Given the description of an element on the screen output the (x, y) to click on. 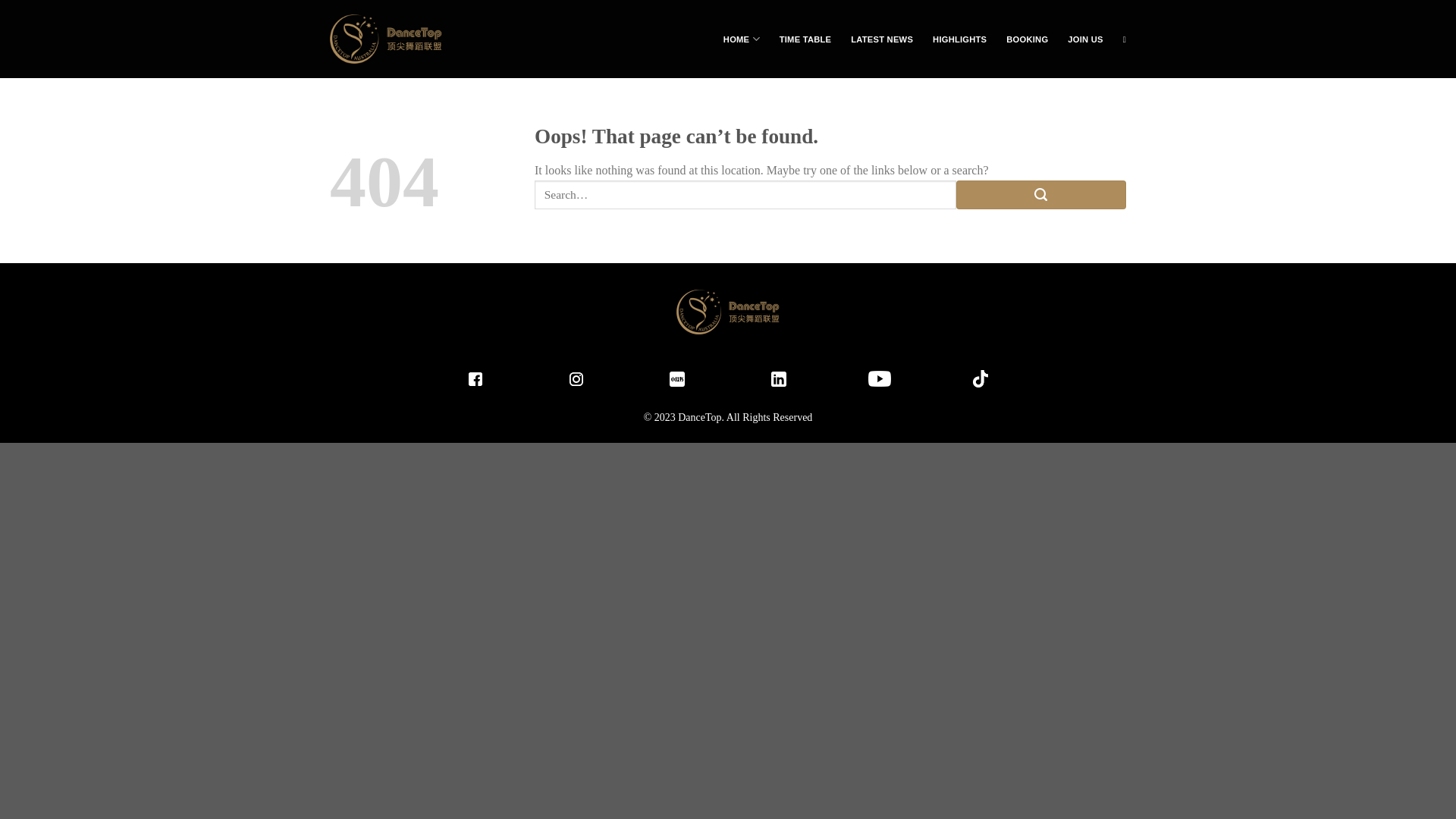
TIME TABLE Element type: text (805, 39)
HIGHLIGHTS Element type: text (959, 39)
BOOKING Element type: text (1027, 39)
HOME Element type: text (741, 38)
DanceTop - DanceTop Element type: hover (385, 38)
JOIN US Element type: text (1084, 39)
LATEST NEWS Element type: text (881, 39)
